Given the description of an element on the screen output the (x, y) to click on. 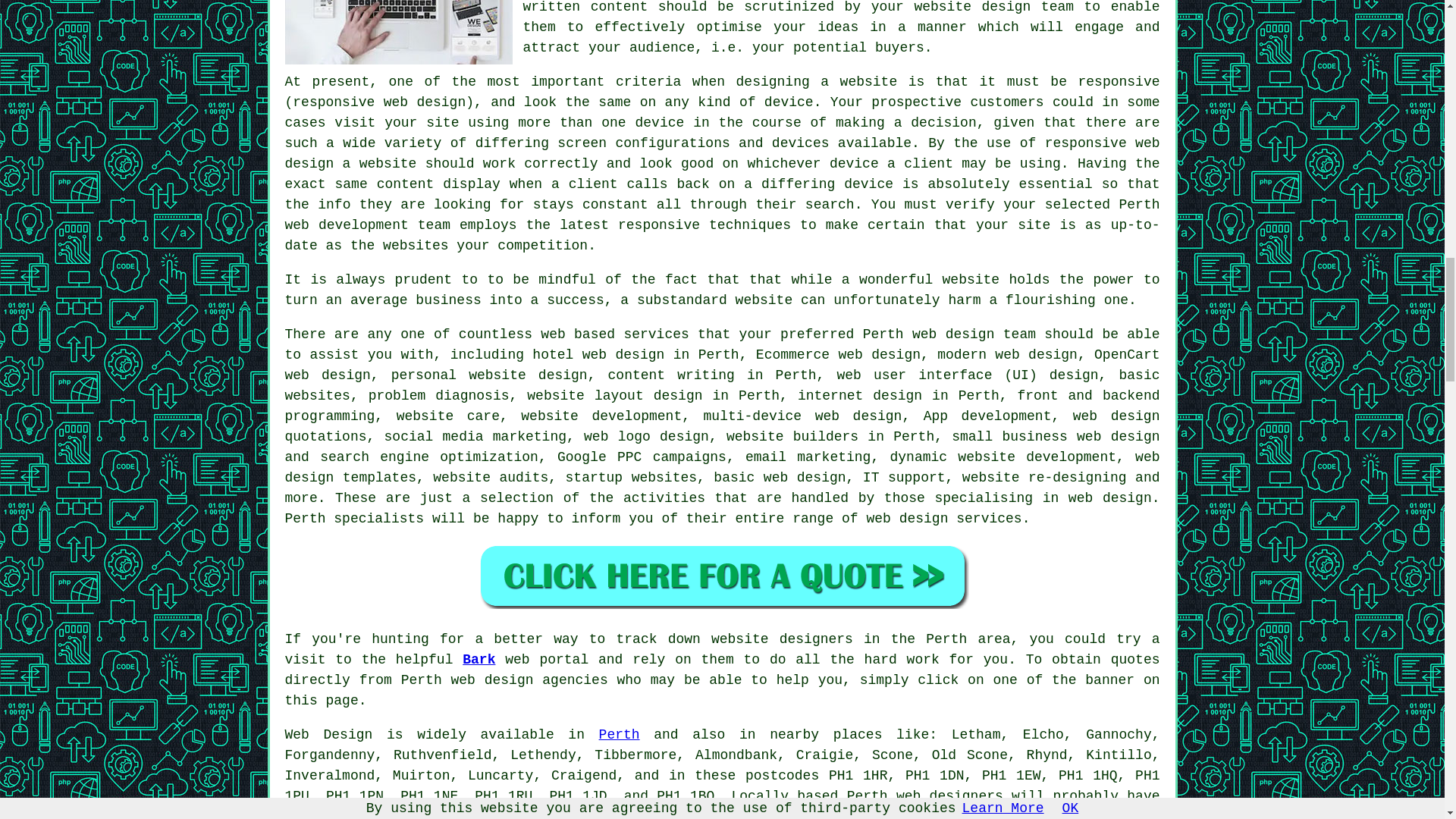
content (405, 183)
device is (881, 183)
Web Designers in Perth, Scotland - Web Development (398, 32)
services (655, 334)
web (924, 334)
